Given the description of an element on the screen output the (x, y) to click on. 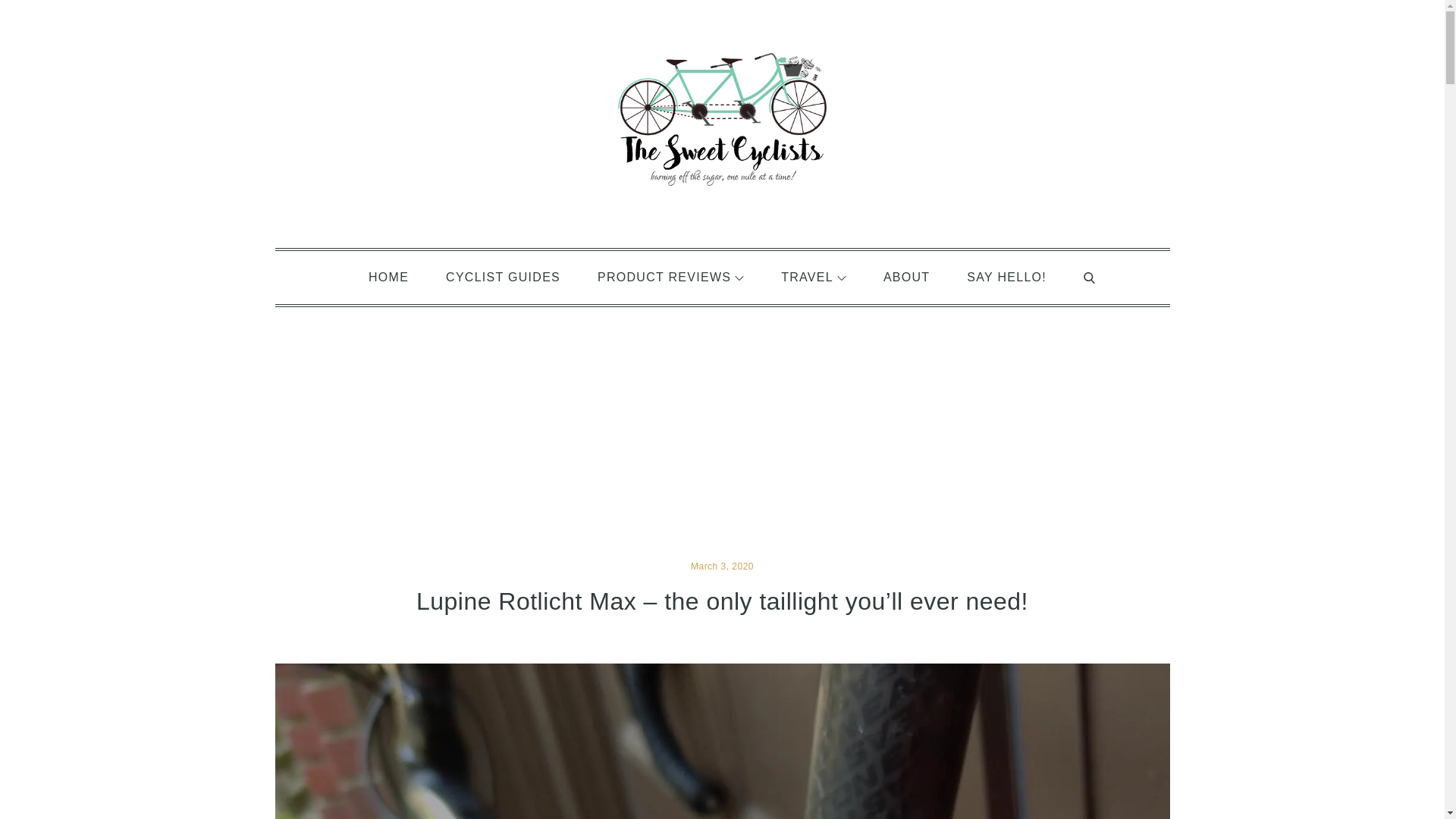
PRODUCT REVIEWS (670, 276)
CYCLIST GUIDES (502, 276)
HOME (388, 276)
TRAVEL (813, 276)
